Given the description of an element on the screen output the (x, y) to click on. 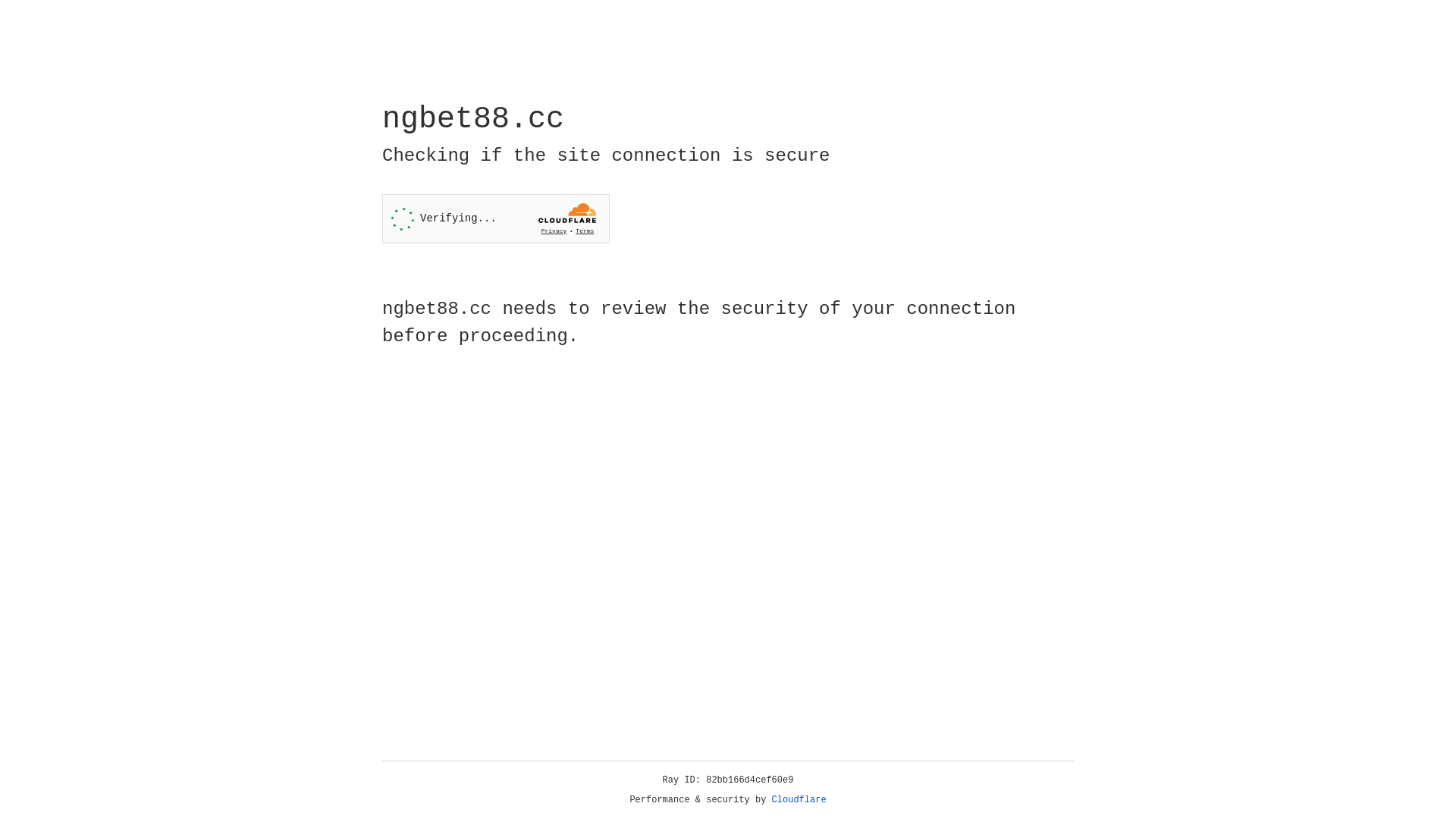
Widget containing a Cloudflare security challenge Element type: hover (495, 218)
Cloudflare Element type: text (798, 799)
